Given the description of an element on the screen output the (x, y) to click on. 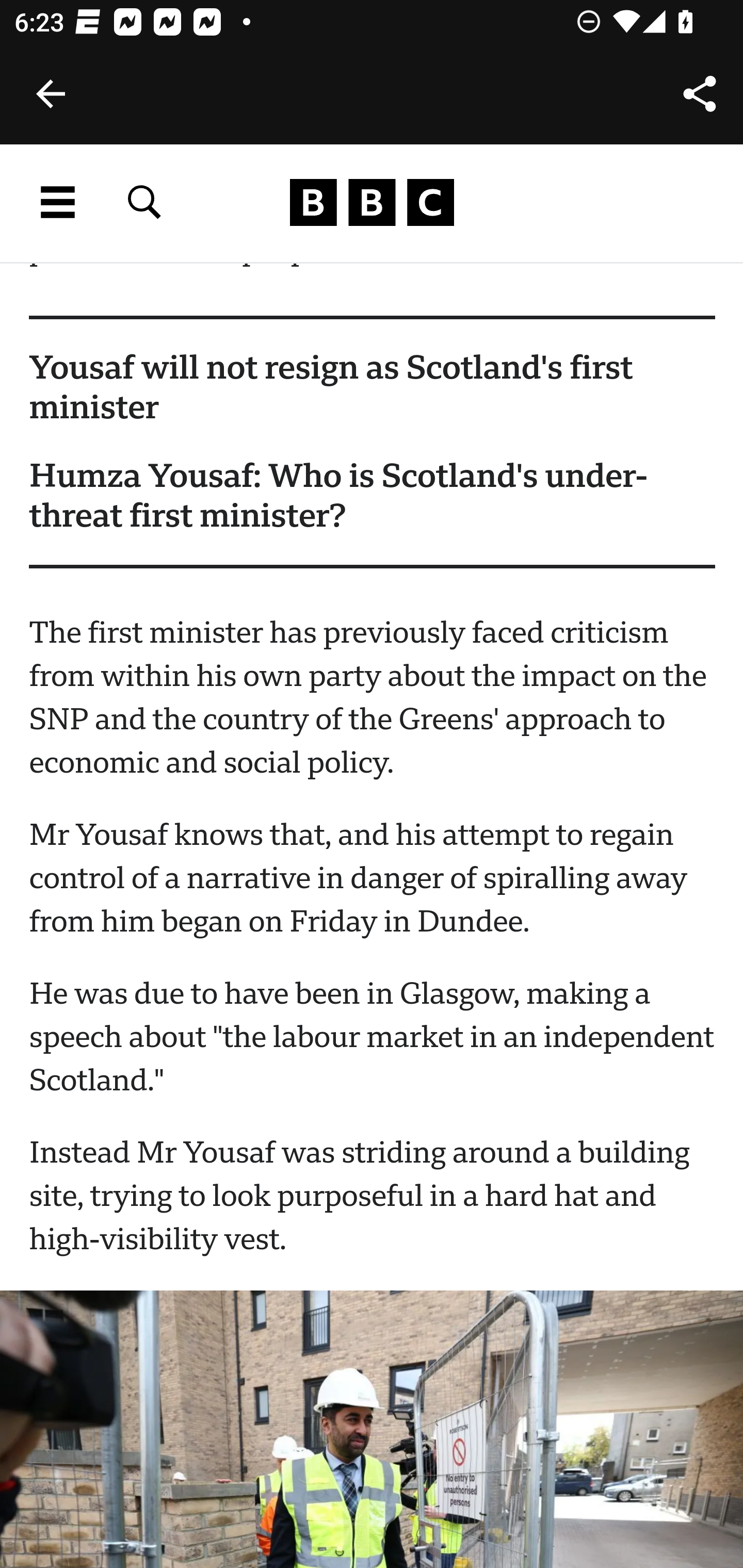
Back (50, 93)
Share (699, 93)
www.bbc (371, 203)
